Given the description of an element on the screen output the (x, y) to click on. 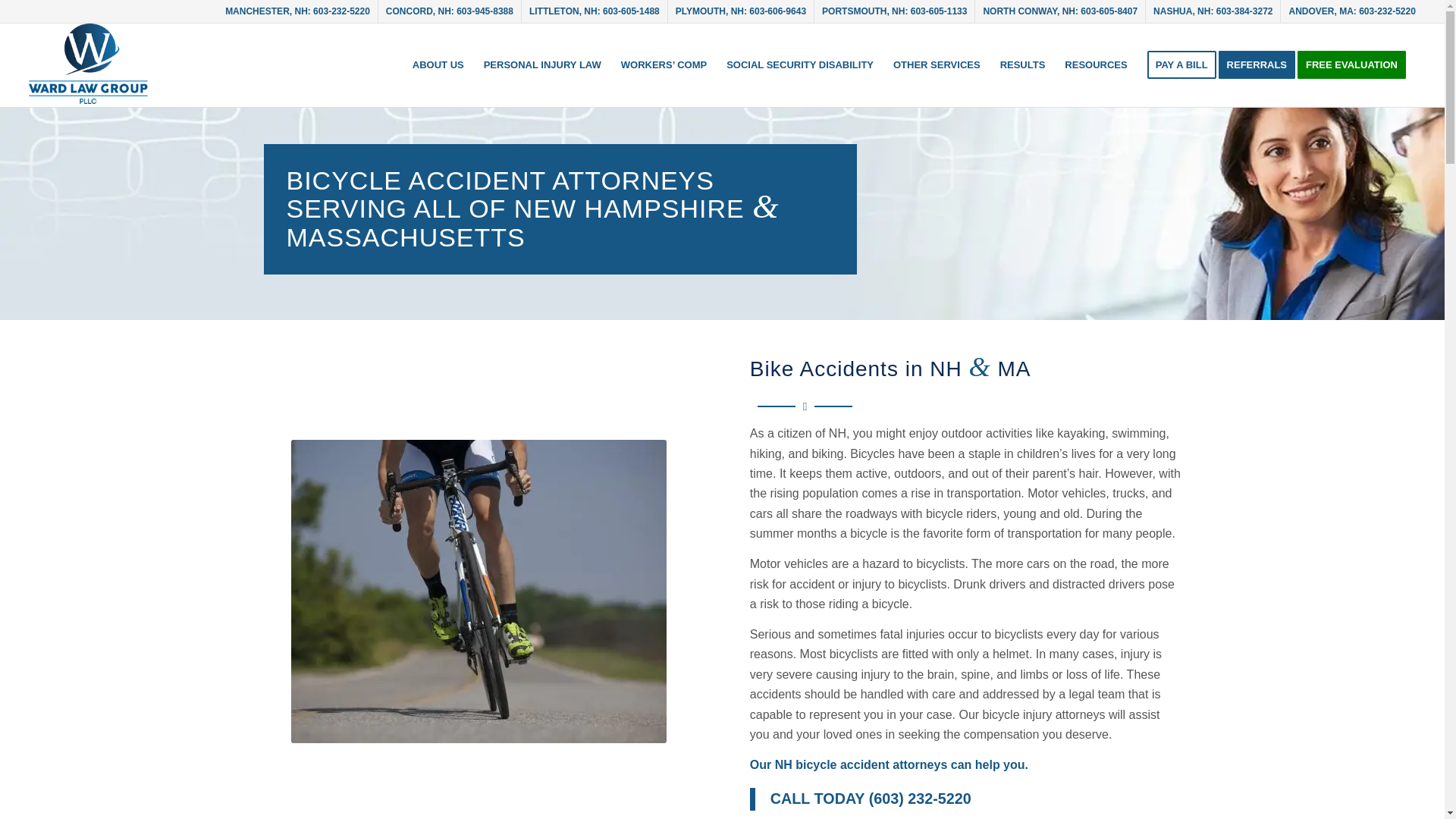
NORTH CONWAY, NH: 603-605-8407 (1059, 11)
PERSONAL INJURY LAW (542, 65)
PORTSMOUTH, NH: 603-605-1133 (894, 11)
OTHER SERVICES (936, 65)
CONCORD, NH: 603-945-8388 (449, 11)
MANCHESTER, NH: 603-232-5220 (297, 11)
ANDOVER, MA: 603-232-5220 (1351, 11)
PLYMOUTH, NH: 603-606-9643 (740, 11)
LITTLETON, NH: 603-605-1488 (594, 11)
SOCIAL SECURITY DISABILITY (799, 65)
